Given the description of an element on the screen output the (x, y) to click on. 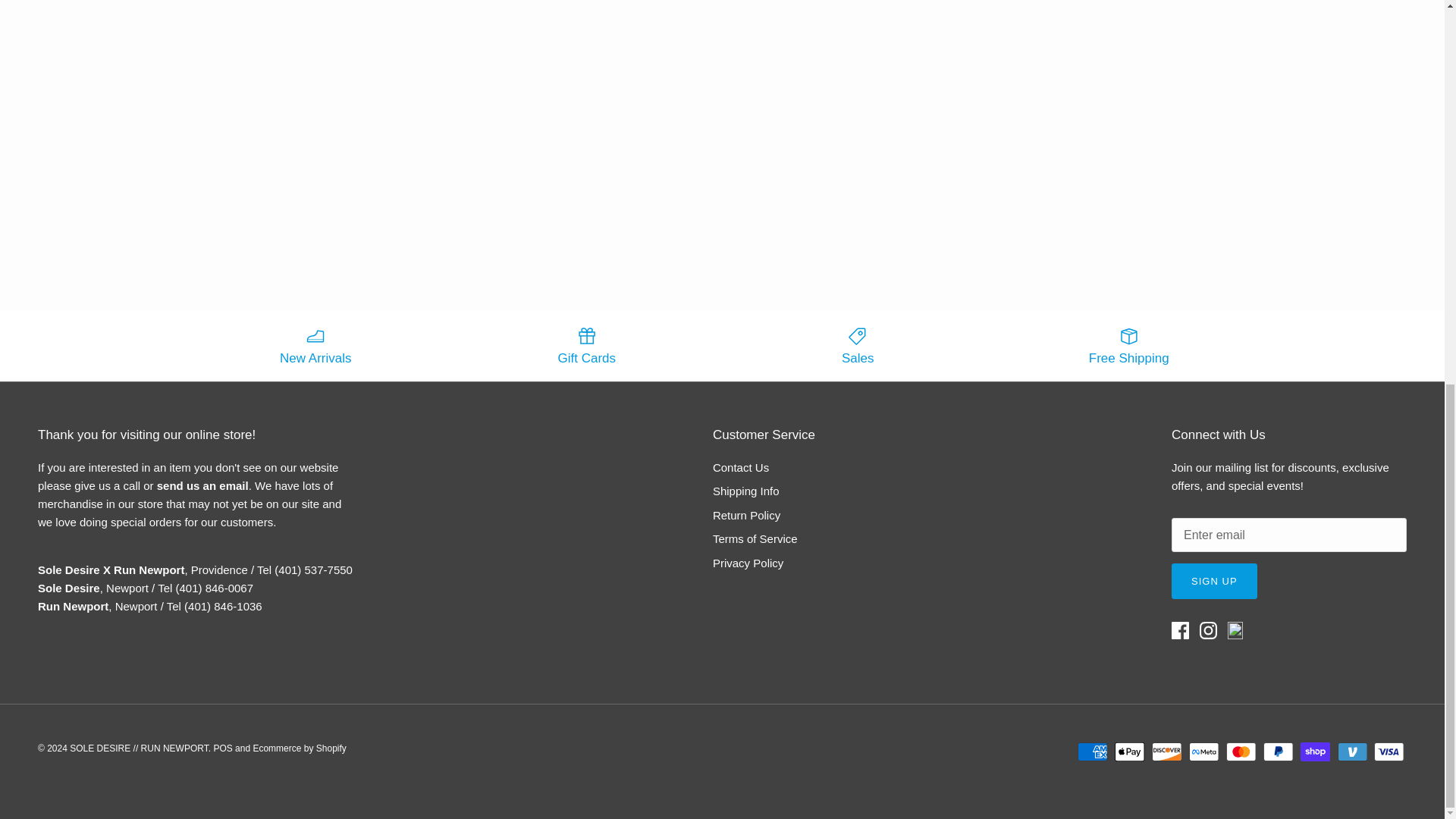
Meta Pay (1203, 751)
Facebook (1180, 630)
Contact (202, 485)
Mastercard (1240, 751)
Instagram (1208, 630)
American Express (1092, 751)
Visa (1388, 751)
PayPal (1277, 751)
Apple Pay (1129, 751)
Venmo (1352, 751)
